Given the description of an element on the screen output the (x, y) to click on. 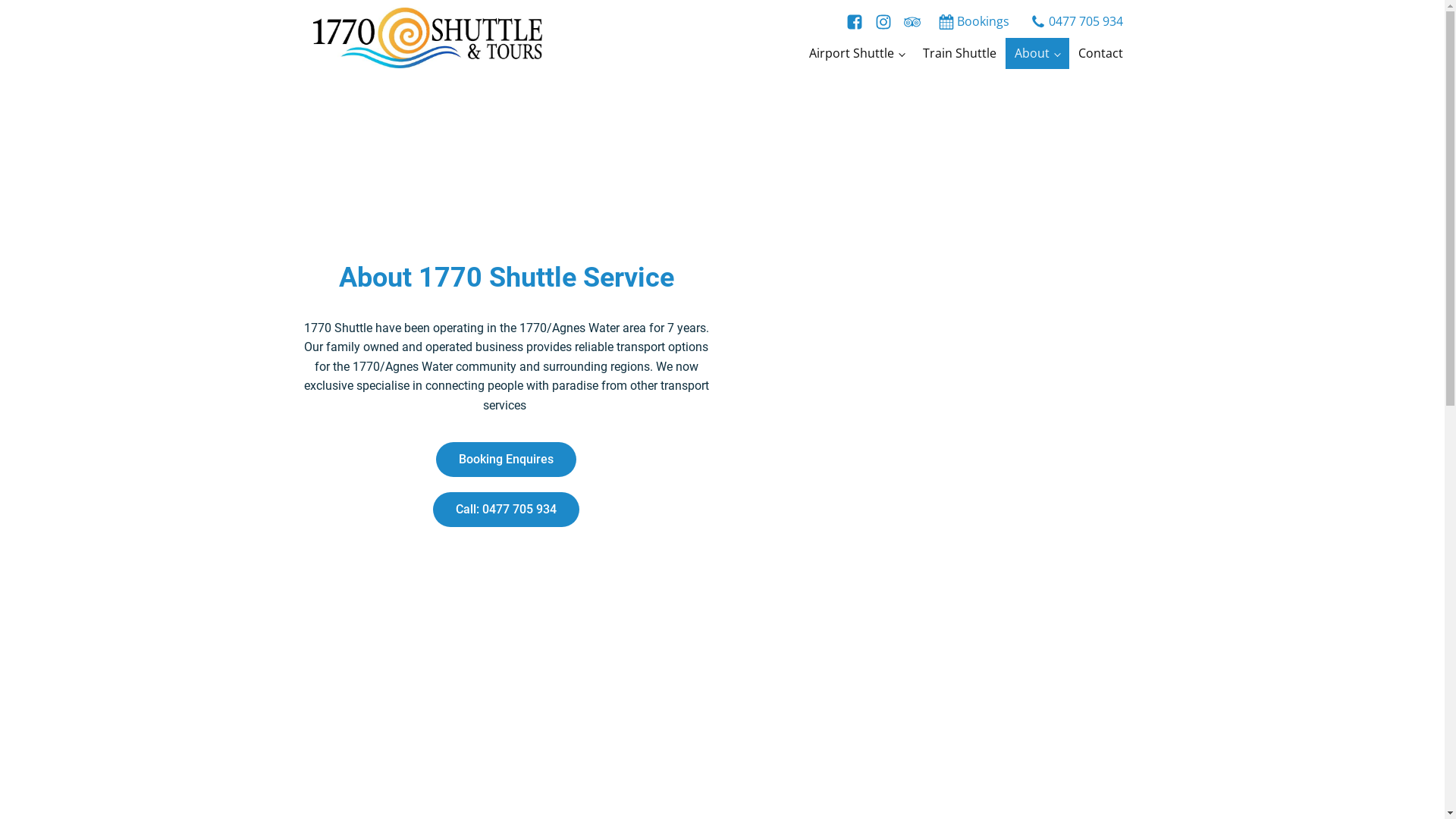
About Element type: text (1037, 53)
Bookings Element type: text (972, 21)
Airport Shuttle Element type: text (856, 53)
0477 705 934 Element type: text (1074, 21)
Train Shuttle Element type: text (959, 53)
Contact Element type: text (1100, 53)
Booking Enquires Element type: text (506, 459)
Call: 0477 705 934 Element type: text (506, 509)
